Given the description of an element on the screen output the (x, y) to click on. 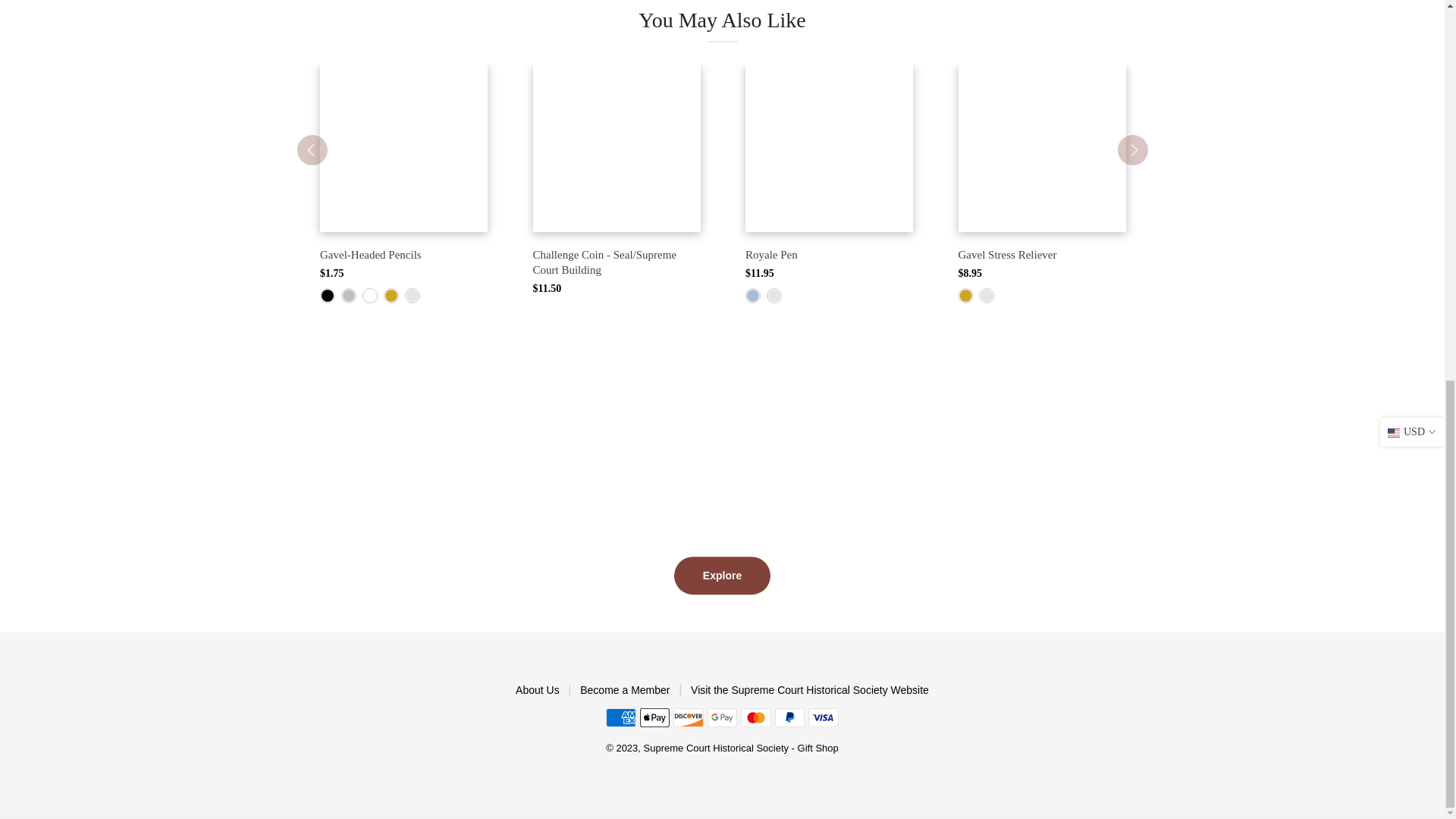
1 (851, 144)
